Given the description of an element on the screen output the (x, y) to click on. 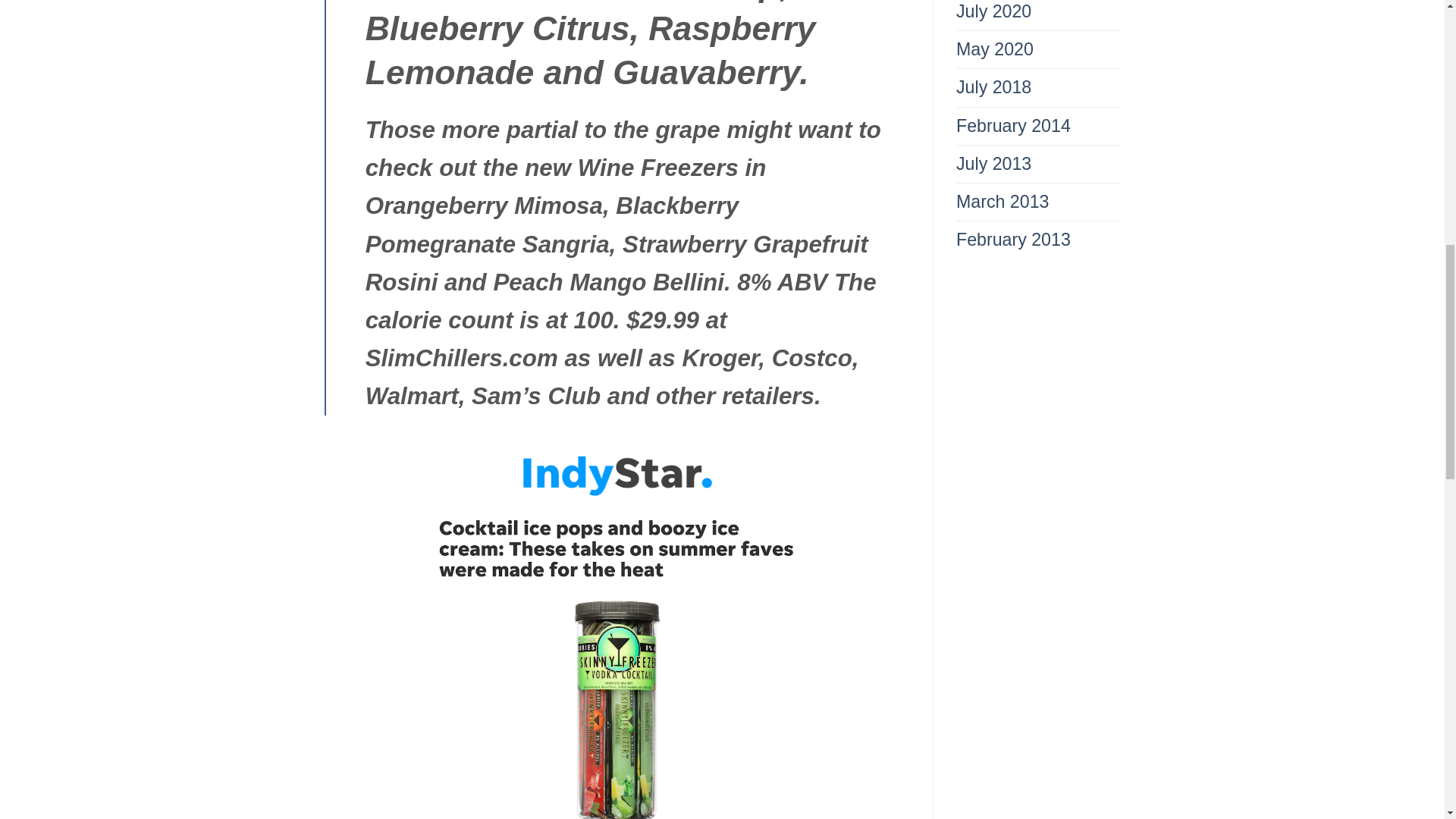
July 2020 (993, 15)
July 2018 (993, 87)
May 2020 (994, 49)
July 2013 (993, 163)
February 2013 (1013, 239)
March 2013 (1002, 201)
February 2014 (1013, 125)
